Given the description of an element on the screen output the (x, y) to click on. 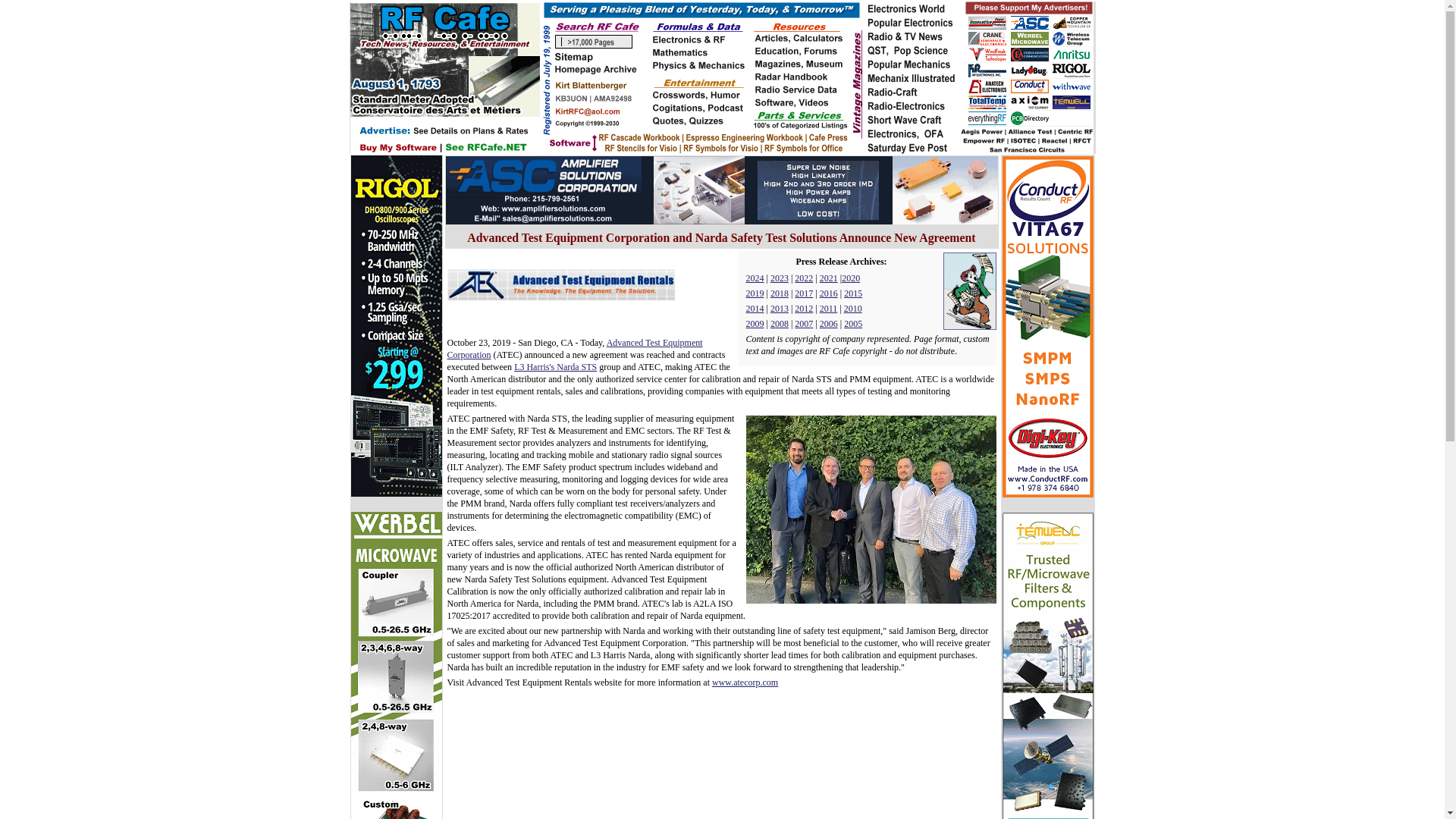
2013 (779, 308)
2017 (803, 293)
2019 (754, 293)
www.atecorp.com (744, 682)
2012 (803, 308)
2005 (852, 323)
2015 (852, 293)
2024 (754, 277)
2016 (828, 293)
2014 (754, 308)
